Given the description of an element on the screen output the (x, y) to click on. 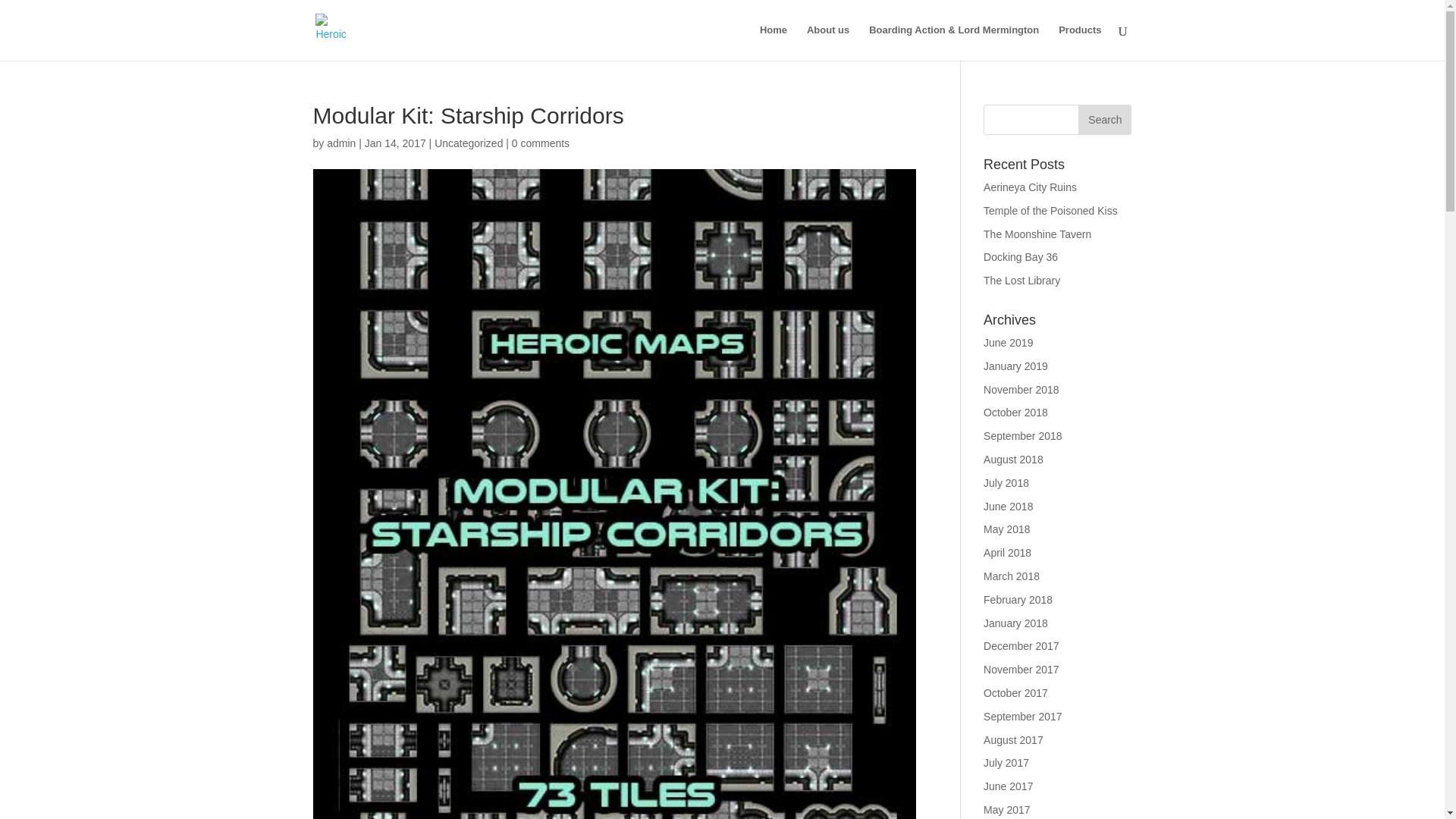
Products (1079, 42)
October 2017 (1016, 693)
June 2019 (1008, 342)
Search (1104, 119)
November 2017 (1021, 669)
Search (1104, 119)
November 2018 (1021, 389)
About us (827, 42)
July 2018 (1006, 482)
Aerineya City Ruins (1030, 186)
January 2019 (1016, 366)
0 comments (540, 143)
Temple of the Poisoned Kiss (1051, 210)
August 2018 (1013, 459)
admin (340, 143)
